Given the description of an element on the screen output the (x, y) to click on. 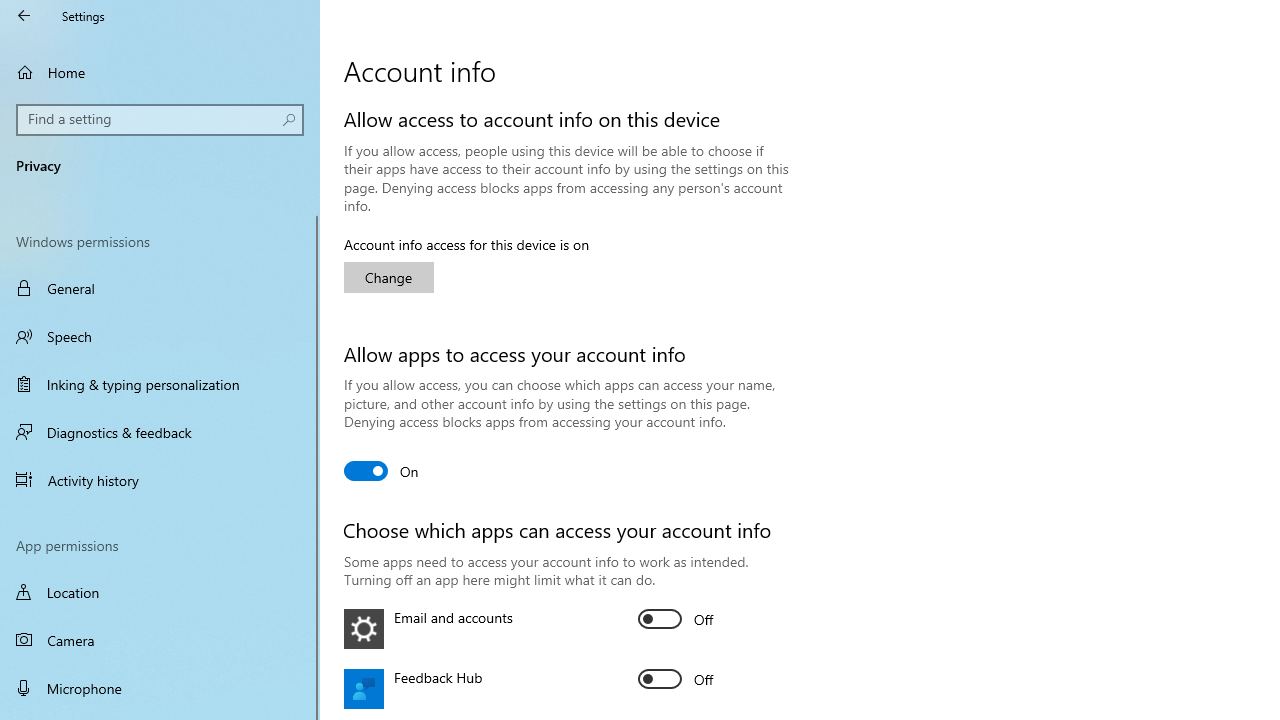
Allow apps to access your account info (381, 470)
Diagnostics & feedback (160, 431)
Microphone (160, 687)
Search box, Find a setting (160, 119)
General (160, 287)
Camera (160, 639)
Feedback Hub (675, 678)
Home (160, 71)
Speech (160, 335)
Email and accounts (675, 619)
Location (160, 592)
Inking & typing personalization (160, 384)
Back (24, 15)
Change (388, 277)
Activity history (160, 479)
